Given the description of an element on the screen output the (x, y) to click on. 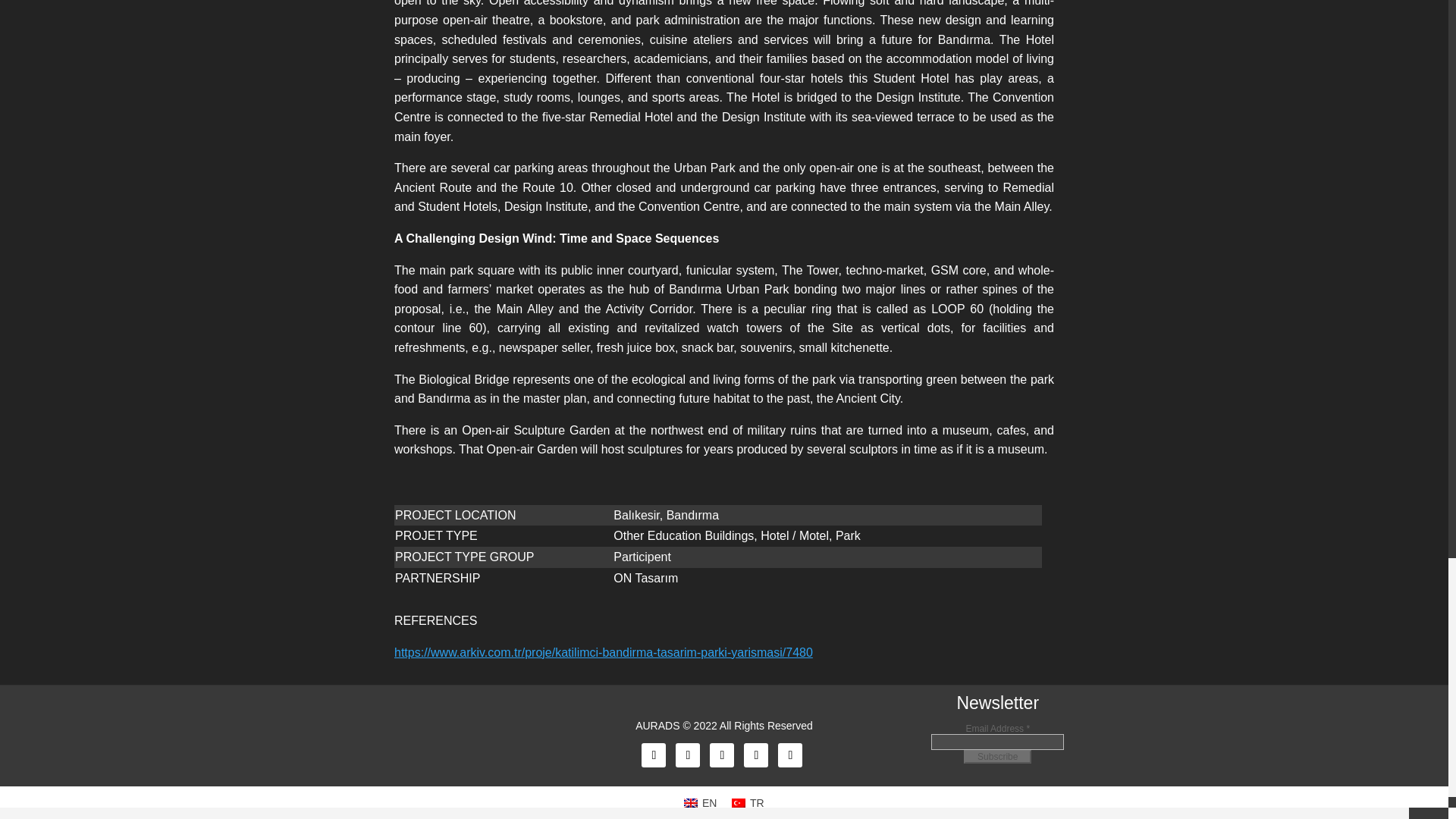
Subscribe (996, 756)
